Given the description of an element on the screen output the (x, y) to click on. 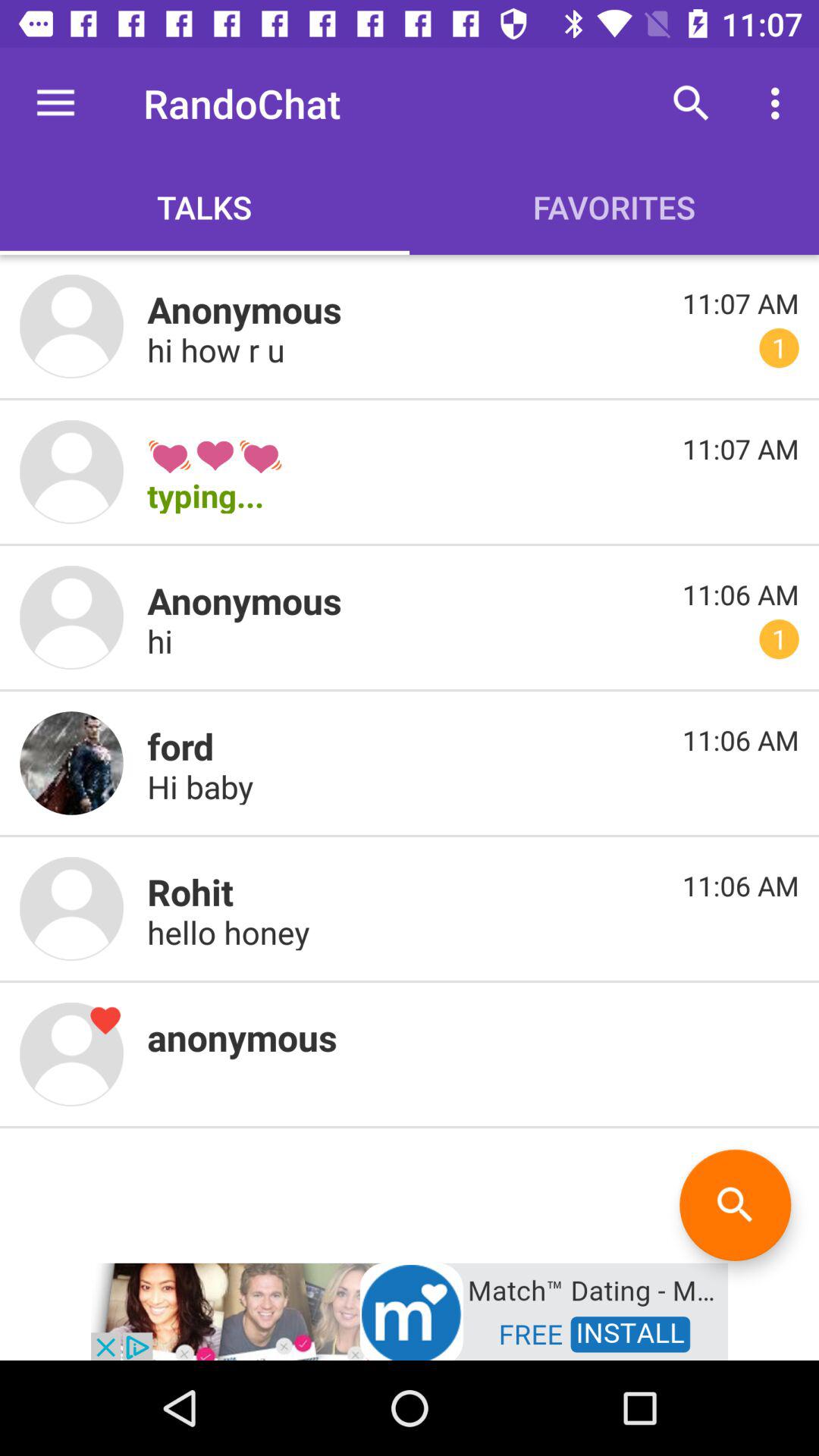
images (71, 471)
